Given the description of an element on the screen output the (x, y) to click on. 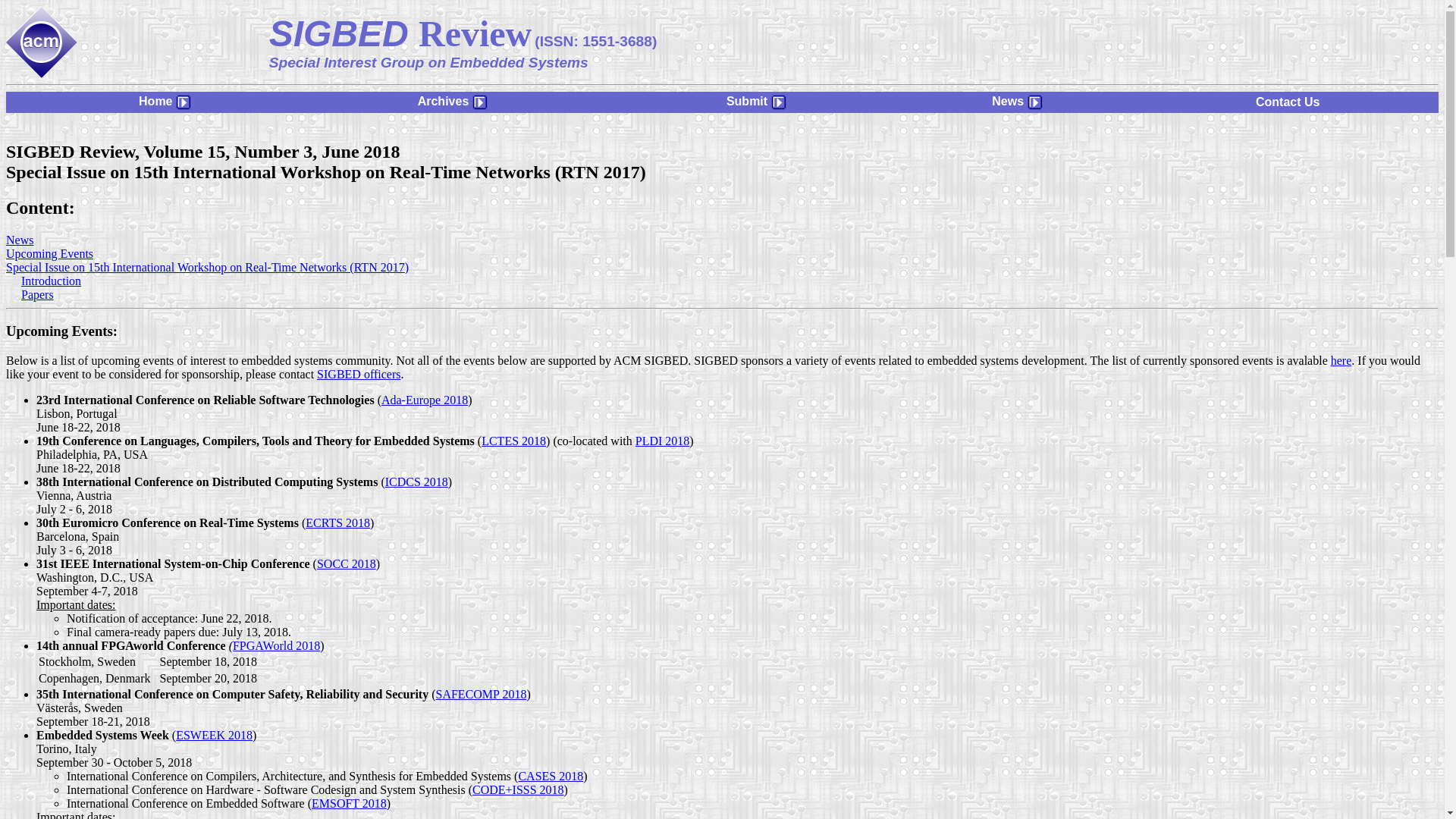
EMSOFT 2018 (349, 802)
ICDCS 2018 (416, 481)
CASES 2018 (550, 775)
News (1016, 101)
Ada-Europe 2018 (424, 399)
Papers (37, 294)
here (1341, 359)
FPGAWorld 2018 (276, 645)
Upcoming Events (49, 253)
Home (164, 101)
